Given the description of an element on the screen output the (x, y) to click on. 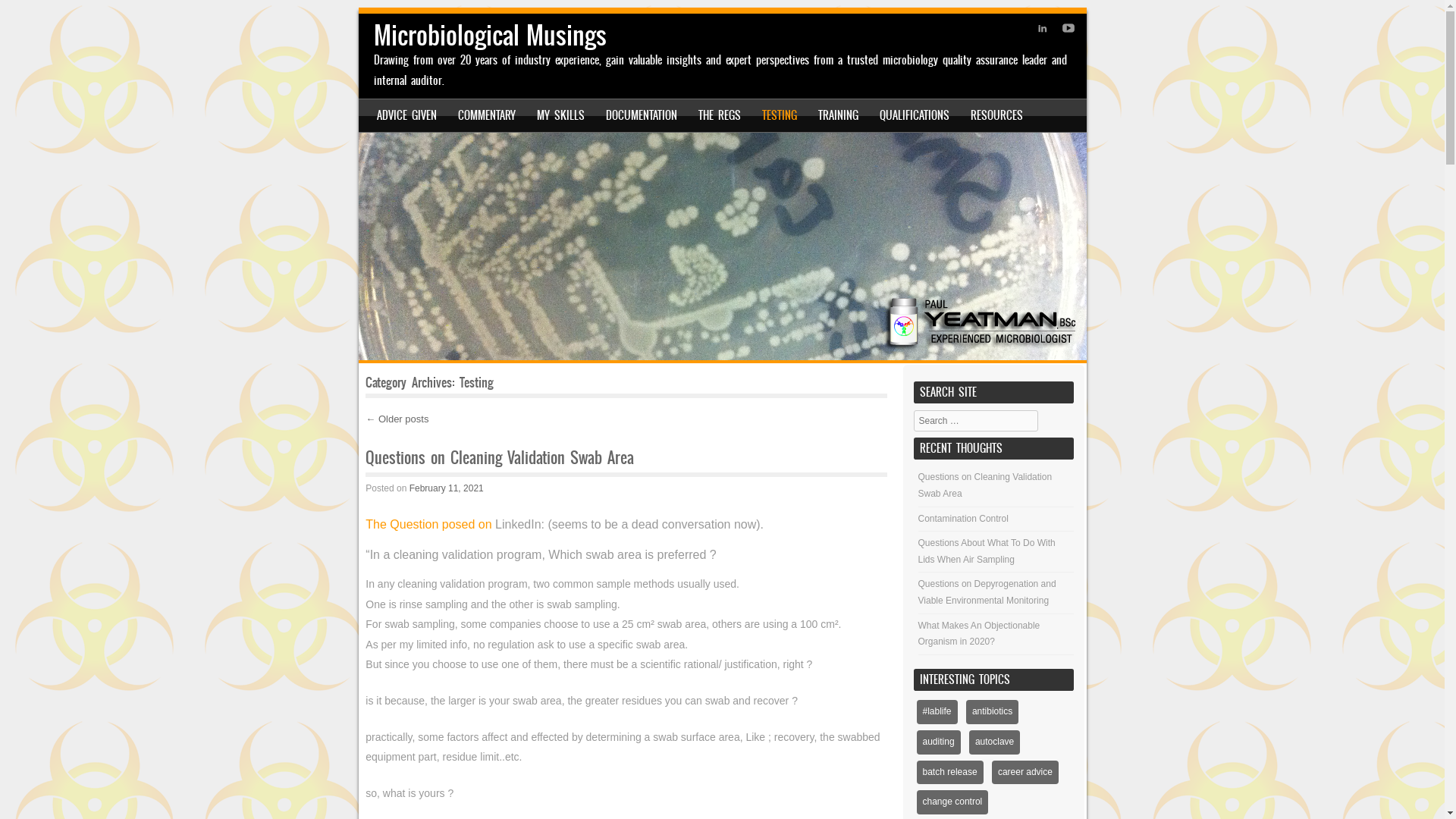
February 11, 2021 Element type: text (446, 488)
QUALIFICATIONS Element type: text (914, 115)
Questions on Cleaning Validation Swab Area Element type: text (499, 457)
MY SKILLS Element type: text (560, 115)
What Makes An Objectionable Organism in 2020? Element type: text (979, 633)
#lablife Element type: text (936, 711)
antibiotics Element type: text (992, 711)
Search Element type: text (33, 17)
The Question posed on Element type: text (430, 523)
COMMENTARY Element type: text (486, 115)
SKIP TO CONTENT Element type: text (403, 115)
DOCUMENTATION Element type: text (641, 115)
Questions on Cleaning Validation Swab Area Element type: text (985, 484)
THE REGS Element type: text (719, 115)
auditing Element type: text (938, 742)
career advice Element type: text (1024, 772)
batch release Element type: text (949, 772)
Contamination Control Element type: text (963, 518)
TESTING Element type: text (779, 115)
TRAINING Element type: text (838, 115)
ADVICE GIVEN Element type: text (406, 115)
Questions About What To Do With Lids When Air Sampling Element type: text (986, 550)
Microbiological Musings Element type: hover (721, 246)
RESOURCES Element type: text (996, 115)
Microbiological Musings Element type: text (489, 34)
autoclave Element type: text (994, 742)
change control Element type: text (952, 802)
